Given the description of an element on the screen output the (x, y) to click on. 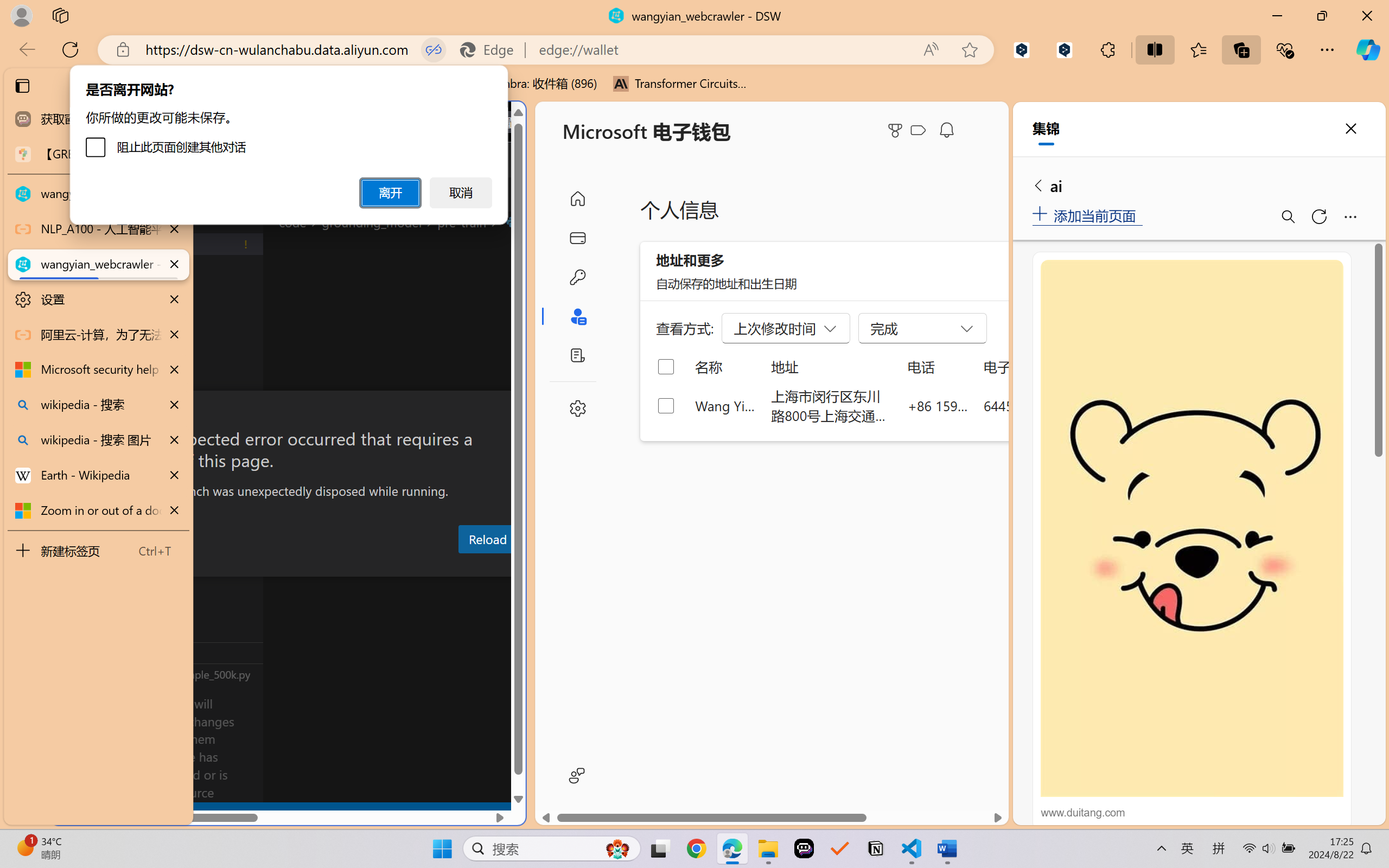
Timeline Section (179, 673)
Outline Section (179, 652)
Terminal (Ctrl+`) (553, 565)
Reload (486, 538)
